Given the description of an element on the screen output the (x, y) to click on. 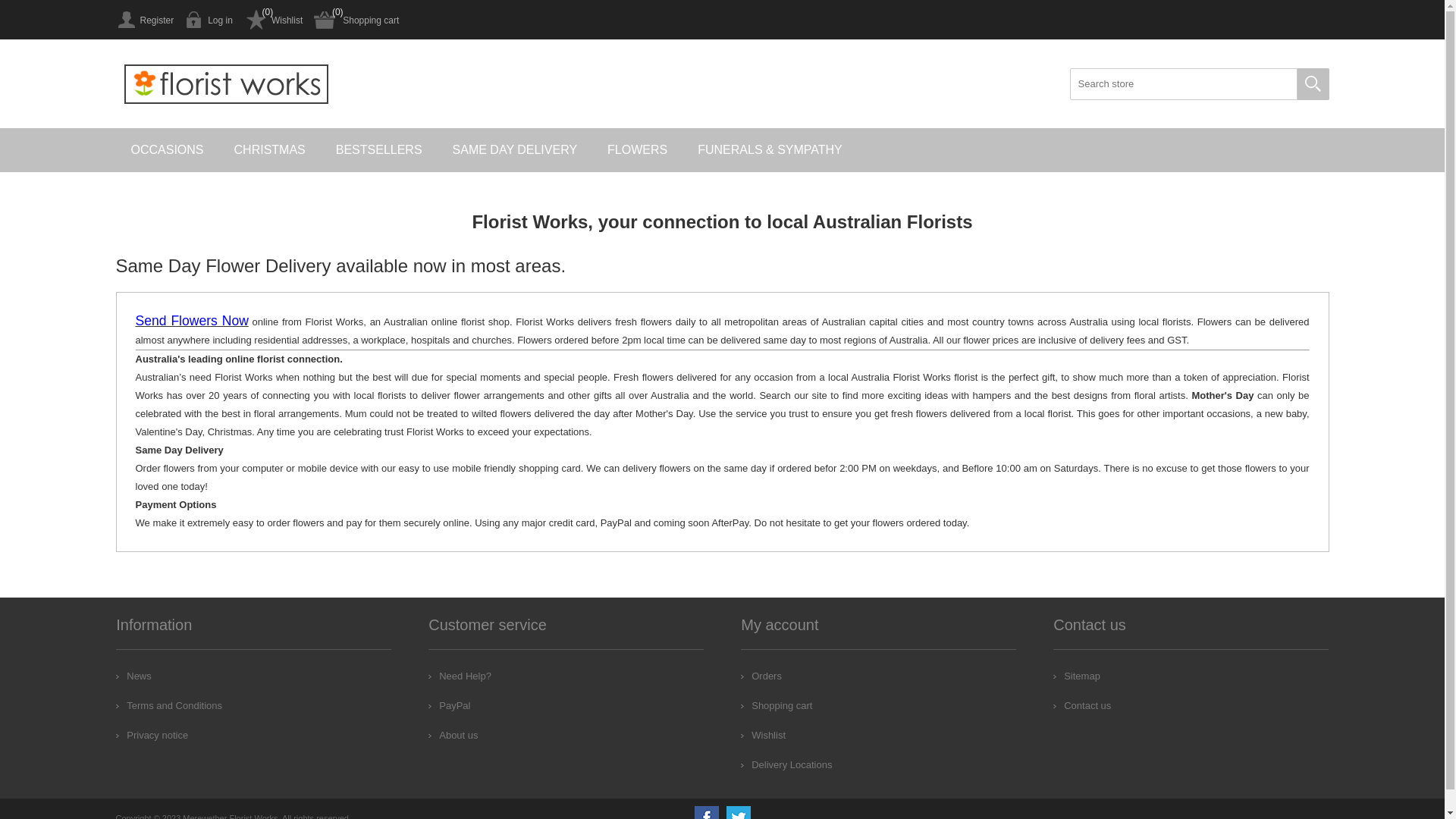
Register Element type: text (144, 19)
FUNERALS & SYMPATHY Element type: text (769, 150)
Sitemap Element type: text (1076, 675)
Send Flowers Now Element type: text (190, 321)
BESTSELLERS Element type: text (378, 150)
Privacy notice Element type: text (152, 734)
Terms and Conditions Element type: text (169, 705)
CHRISTMAS Element type: text (269, 150)
Search Element type: text (1312, 84)
Shopping cart Element type: text (355, 19)
News Element type: text (133, 675)
Need Help? Element type: text (459, 675)
Shopping cart Element type: text (776, 705)
Orders Element type: text (760, 675)
PayPal Element type: text (449, 705)
SAME DAY DELIVERY Element type: text (515, 150)
Contact us Element type: text (1081, 705)
Log in Element type: text (208, 19)
About us Element type: text (452, 734)
Delivery Locations Element type: text (785, 764)
OCCASIONS Element type: text (166, 150)
FLOWERS Element type: text (637, 150)
Wishlist Element type: text (273, 19)
Wishlist Element type: text (762, 734)
